Given the description of an element on the screen output the (x, y) to click on. 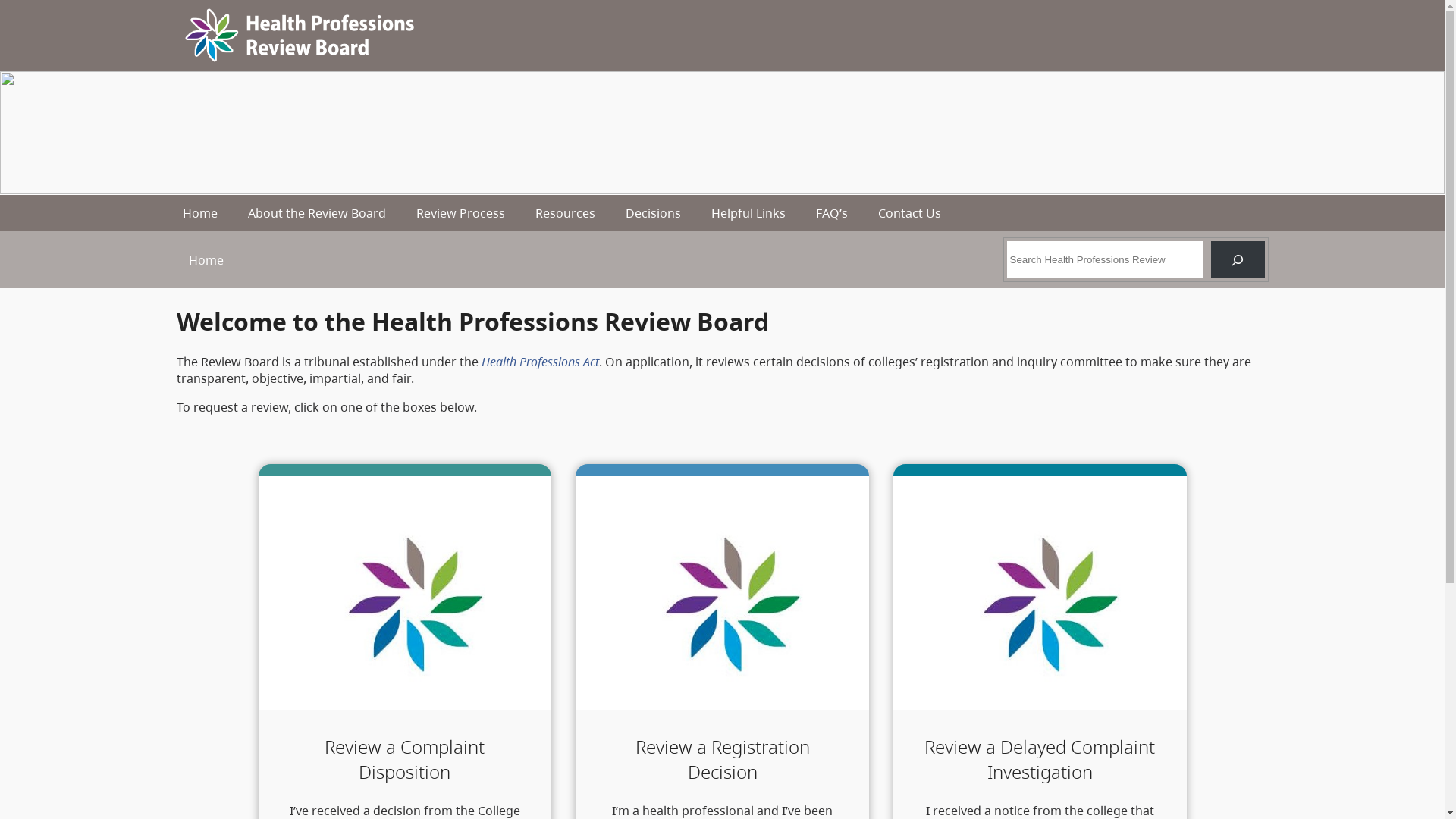
Helpful Links Element type: text (748, 212)
Contact Us Element type: text (909, 212)
Decisions Element type: text (653, 212)
About the Review Board Element type: text (316, 212)
Home Element type: text (199, 212)
Health Professions Act Element type: text (539, 361)
Resources Element type: text (565, 212)
Review Process Element type: text (460, 212)
